Given the description of an element on the screen output the (x, y) to click on. 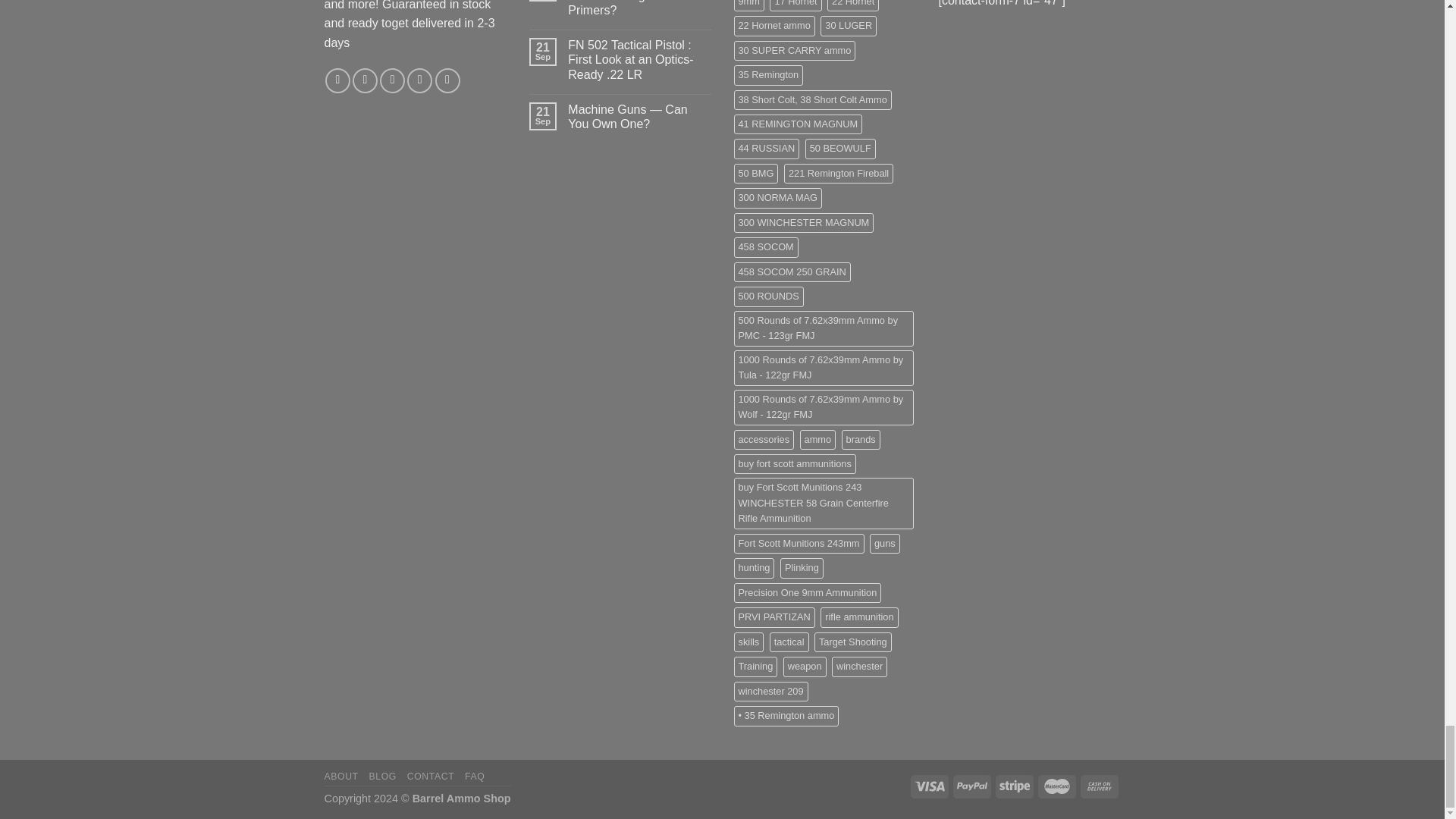
What are Tul Ammo Standard Large Rifle Primers? (638, 9)
